Given the description of an element on the screen output the (x, y) to click on. 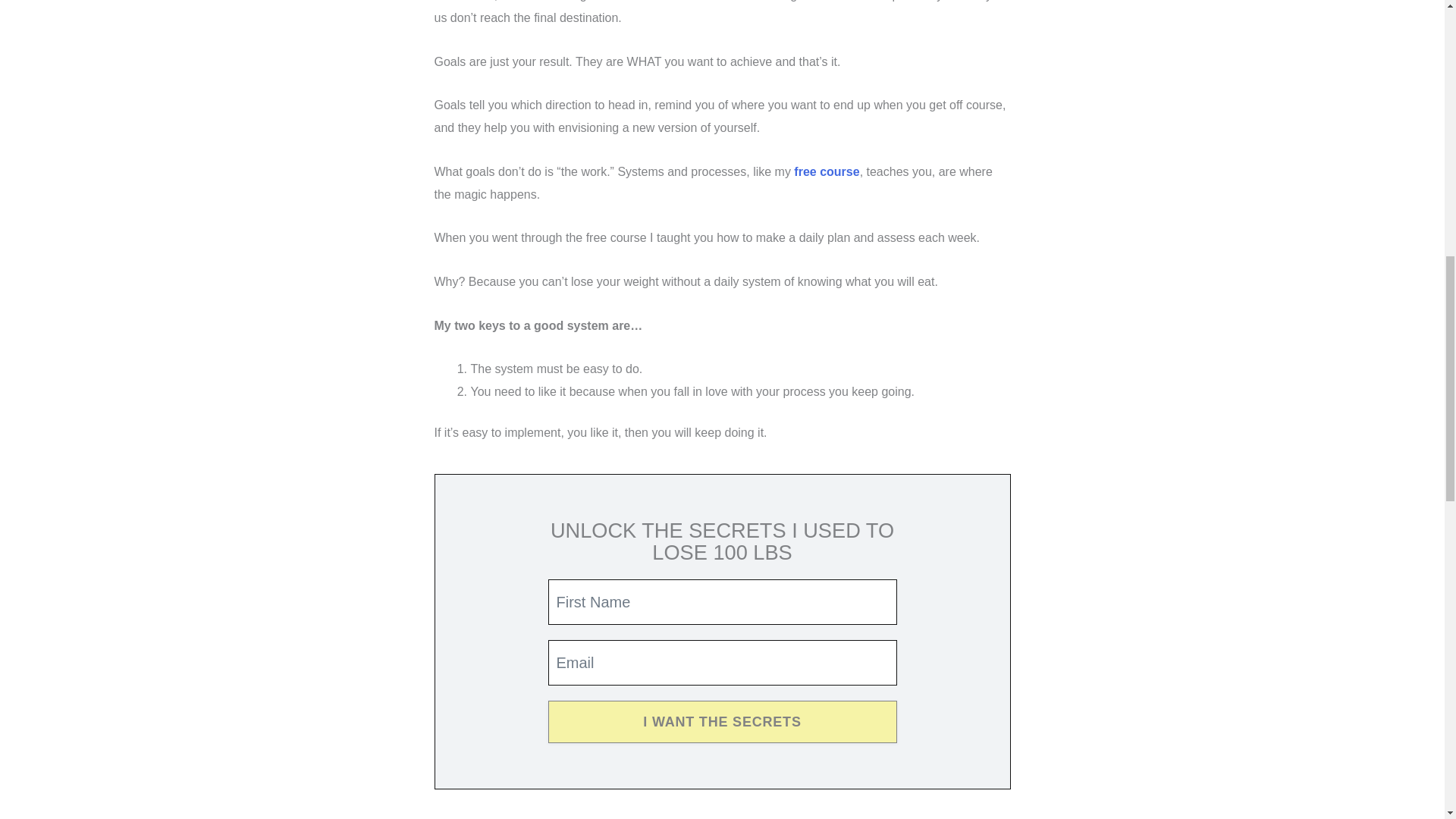
I WANT THE SECRETS (721, 721)
free course (826, 171)
I WANT THE SECRETS (721, 721)
